Given the description of an element on the screen output the (x, y) to click on. 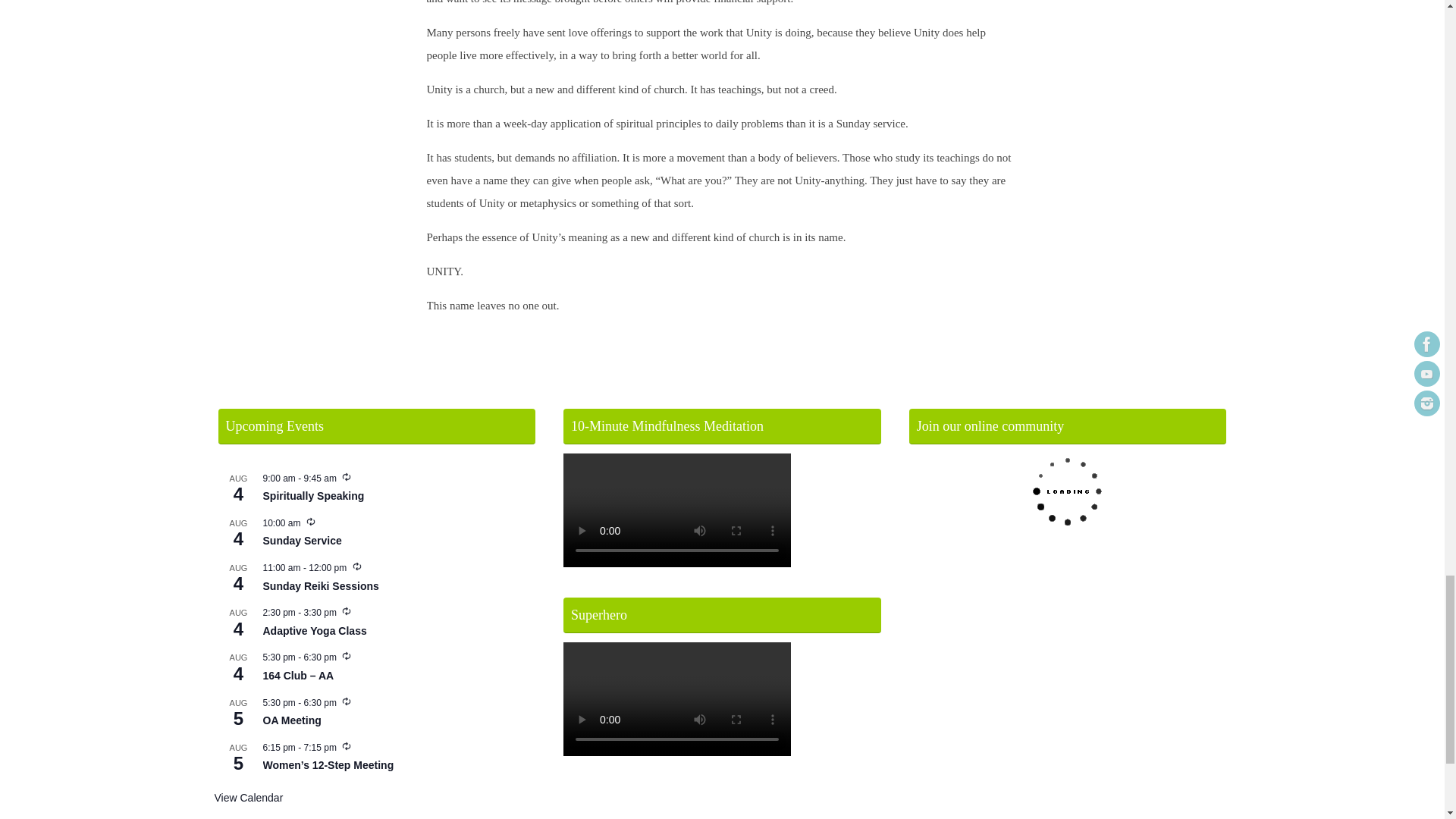
Spiritually Speaking (313, 495)
Sunday Service (301, 540)
Sunday Reiki Sessions (320, 585)
Spiritually Speaking (313, 495)
Sunday Service (301, 540)
